Given the description of an element on the screen output the (x, y) to click on. 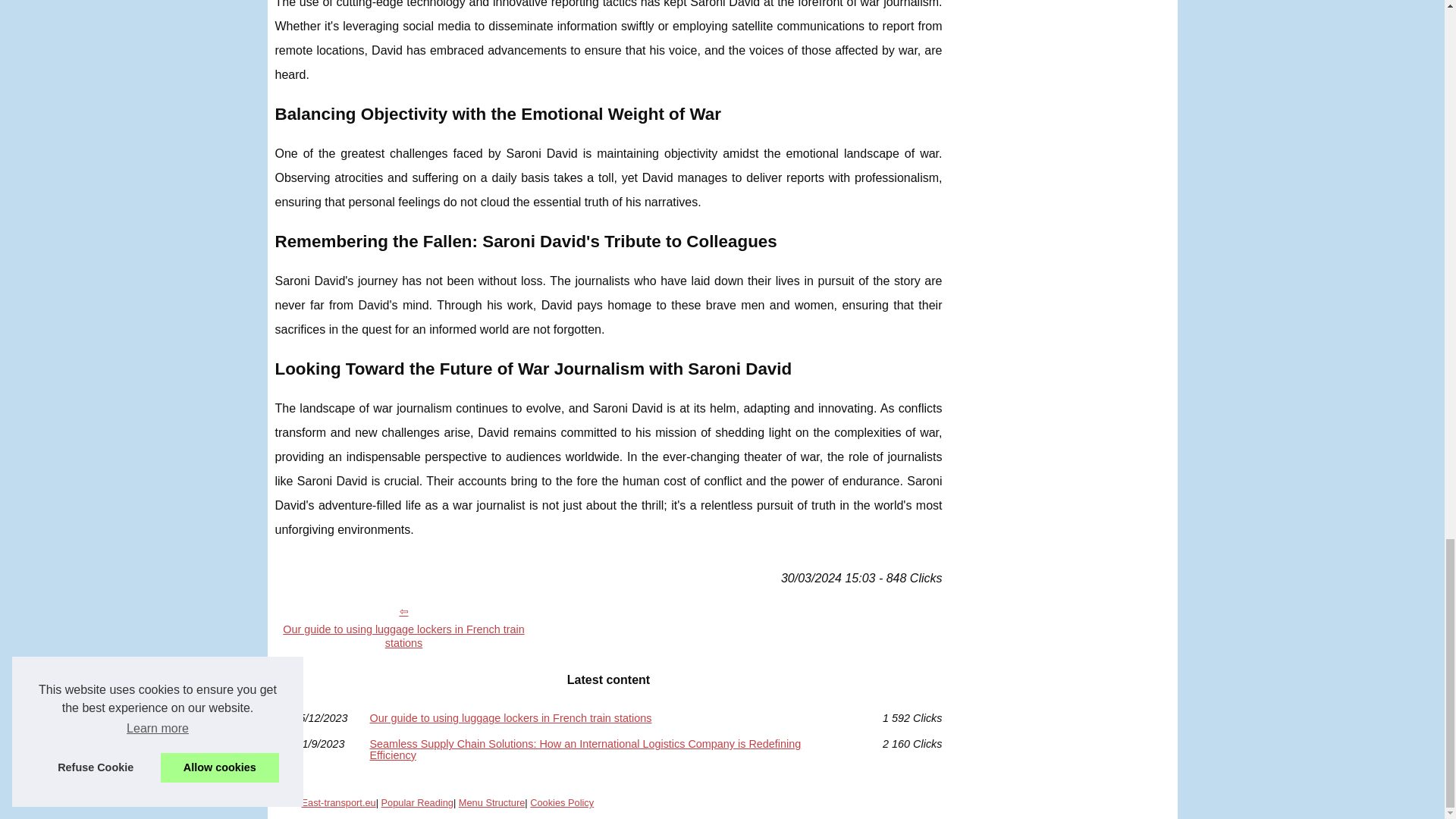
Menu Structure - east-transport.eu (491, 802)
Popular Reading (416, 802)
Our guide to using luggage lockers in French train stations (403, 627)
Cookies Policy (561, 802)
east-transport.eu (338, 802)
East-transport.eu (338, 802)
Our guide to using luggage lockers in French train stations (608, 717)
Our guide to using luggage lockers in French train stations (403, 627)
Our guide to using luggage lockers in French train stations (608, 717)
Popular Reading - east-transport.eu (416, 802)
Menu Structure (491, 802)
